Given the description of an element on the screen output the (x, y) to click on. 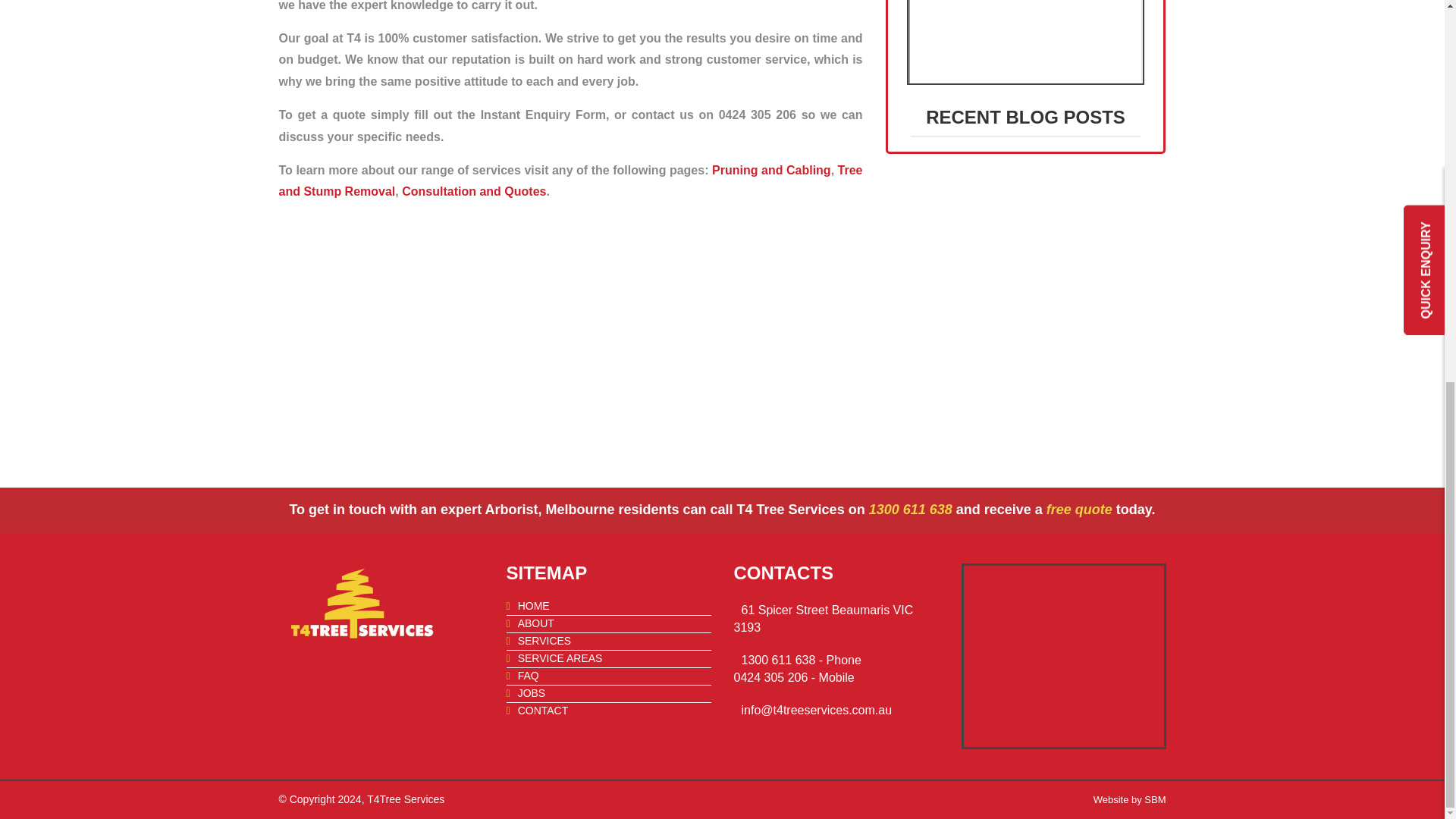
1300 611 638 (912, 509)
Tree and Stump Removal (571, 181)
Consultation and Quotes (473, 191)
Pruning and Cabling (771, 169)
